Given the description of an element on the screen output the (x, y) to click on. 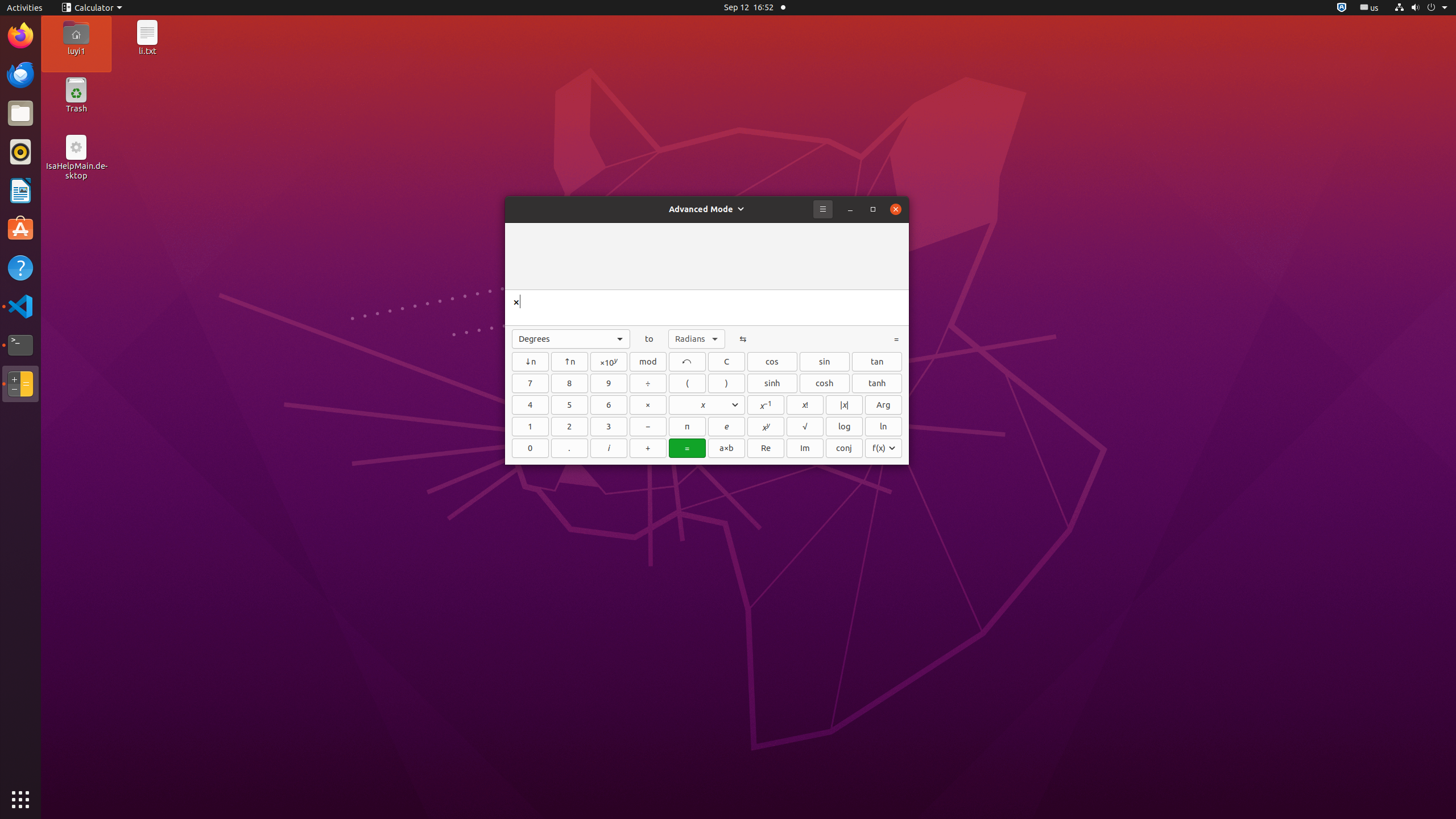
π Element type: push-button (686, 426)
Memory Element type: toggle-button (706, 404)
− Element type: push-button (647, 426)
Factorial Element type: push-button (804, 404)
log Element type: push-button (843, 426)
